Given the description of an element on the screen output the (x, y) to click on. 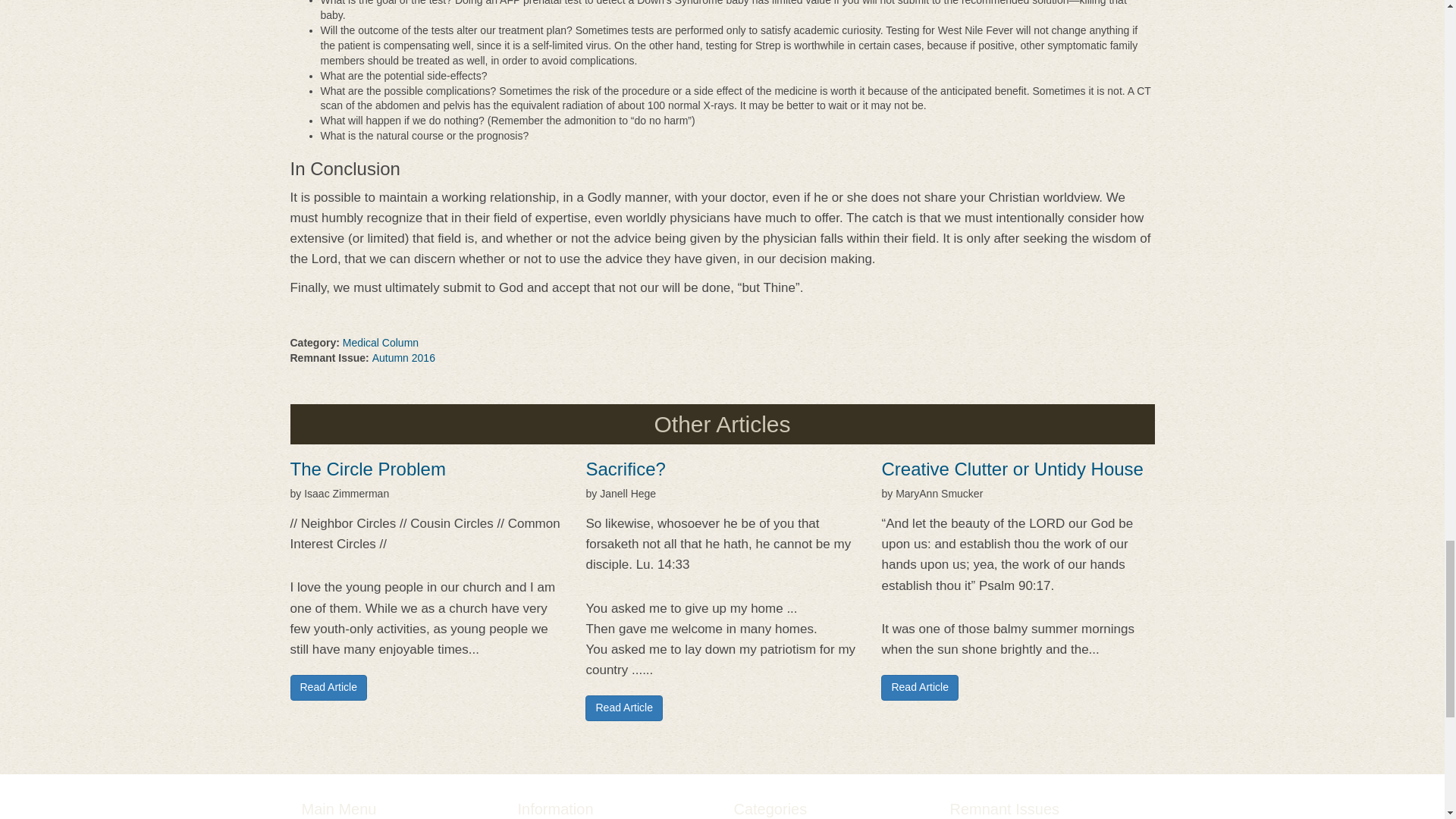
Medical Column (380, 342)
The Circle Problem (367, 468)
Read Article (623, 708)
Read Article (327, 687)
Sacrifice? (625, 468)
Read Article (919, 687)
Autumn 2016 (403, 357)
Creative Clutter or Untidy House (1011, 468)
